Given the description of an element on the screen output the (x, y) to click on. 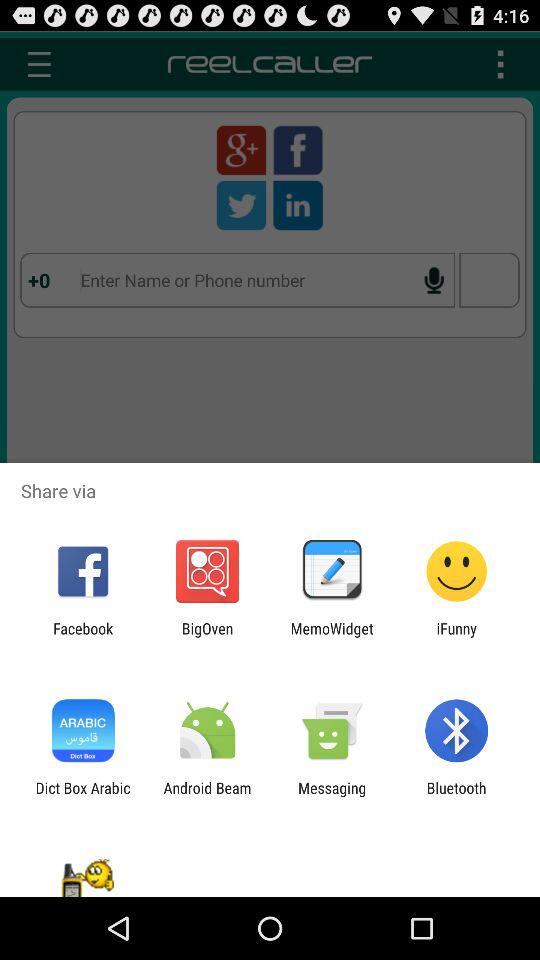
press app next to bigoven item (331, 637)
